Given the description of an element on the screen output the (x, y) to click on. 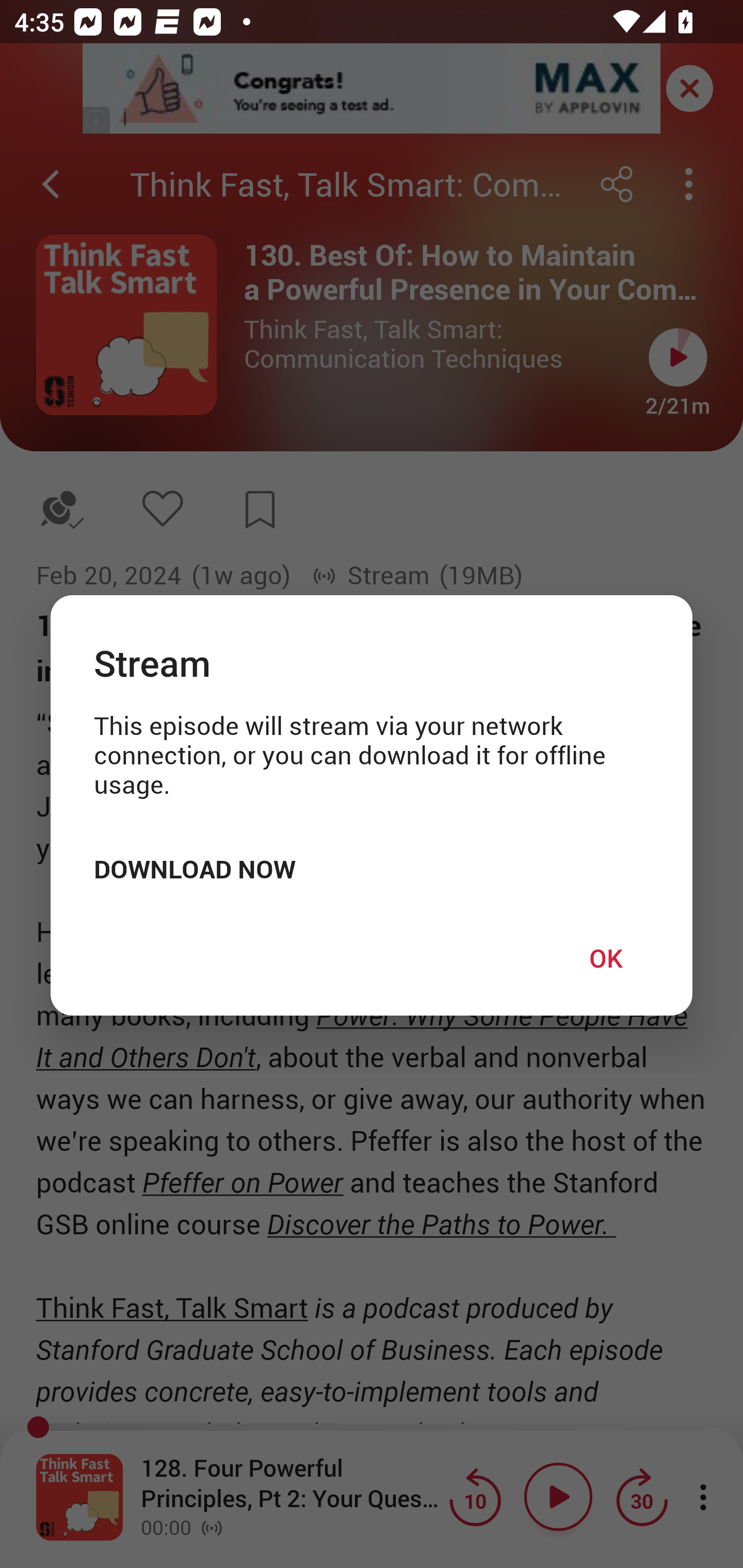
DOWNLOAD NOW (194, 868)
OK (605, 957)
